Given the description of an element on the screen output the (x, y) to click on. 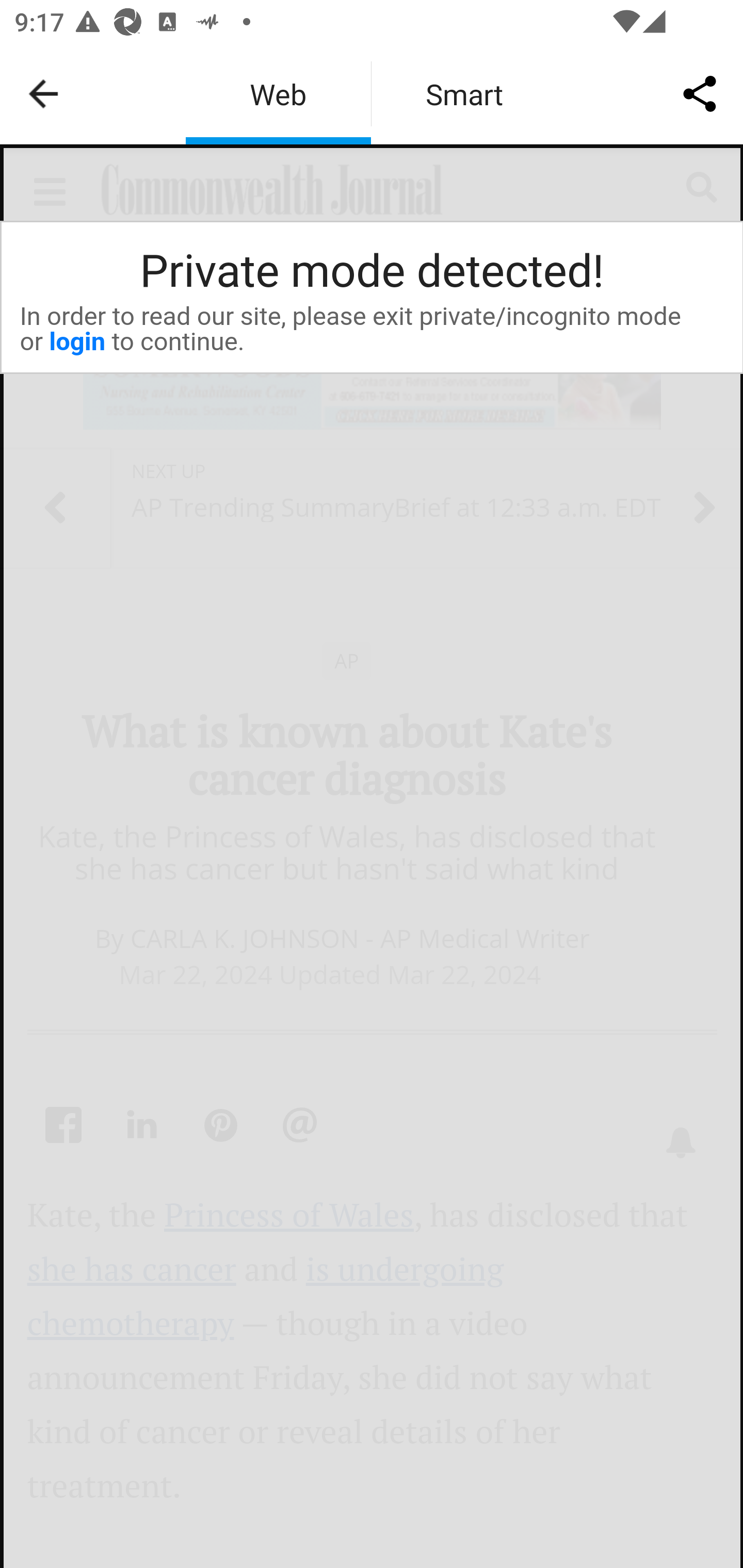
Web (277, 93)
Smart (464, 93)
